Given the description of an element on the screen output the (x, y) to click on. 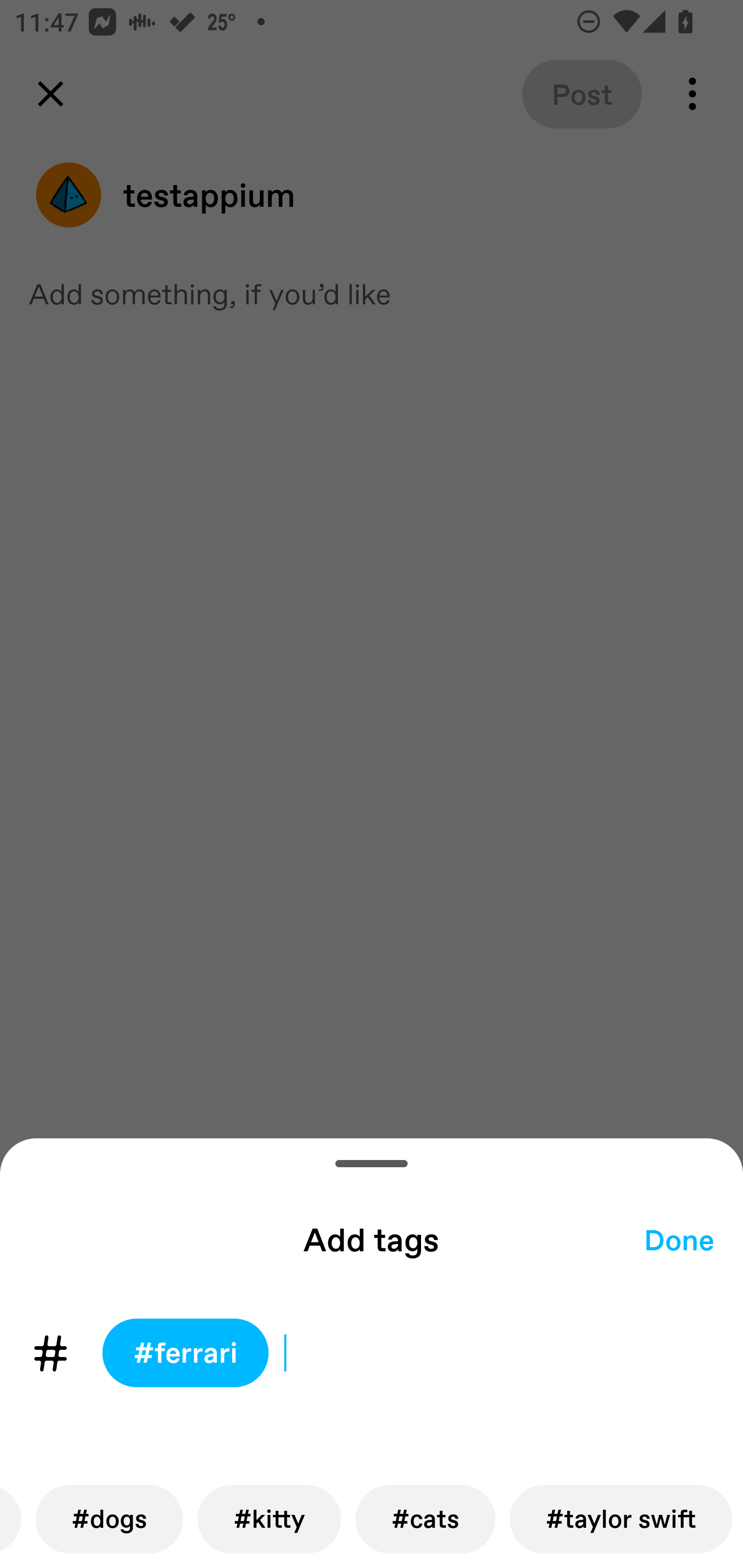
Done (679, 1239)
#ferrari (185, 1353)
#dogs (109, 1518)
#kitty (269, 1518)
#cats (425, 1518)
#taylor swift (620, 1518)
